Given the description of an element on the screen output the (x, y) to click on. 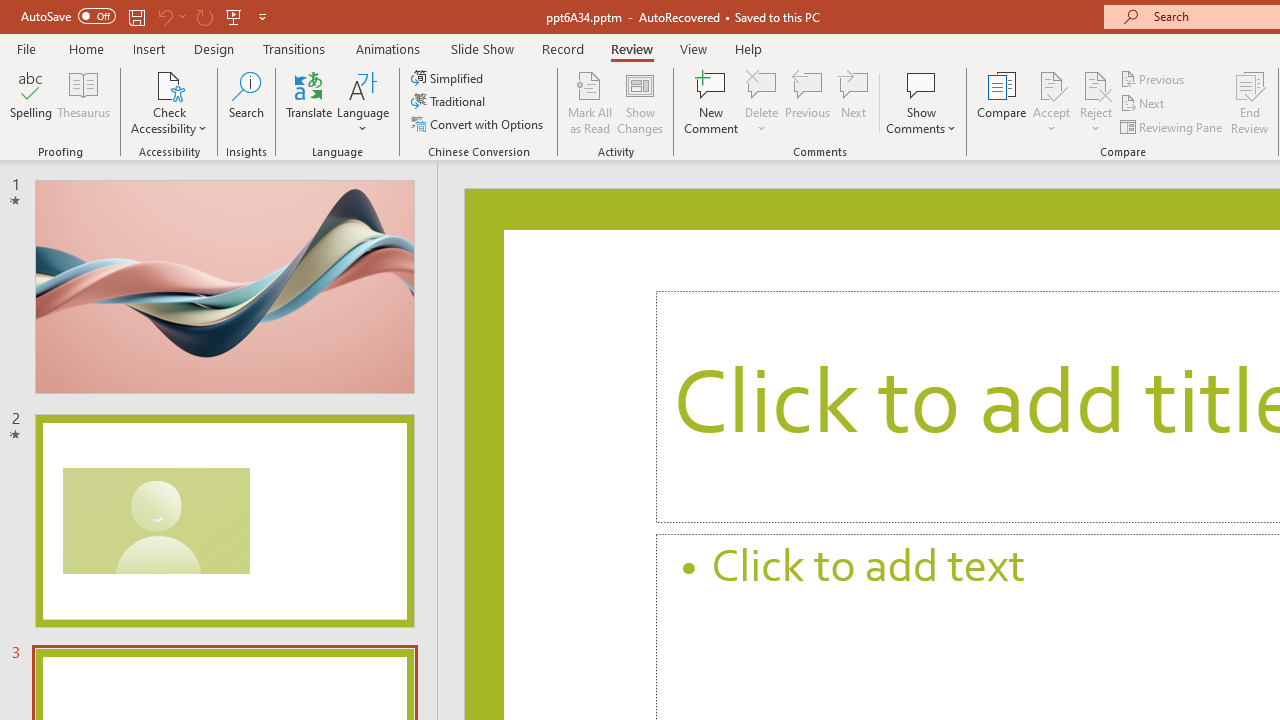
Accept Change (1051, 84)
Delete (762, 84)
Translate (309, 102)
Previous (1153, 78)
Spelling... (31, 102)
